Given the description of an element on the screen output the (x, y) to click on. 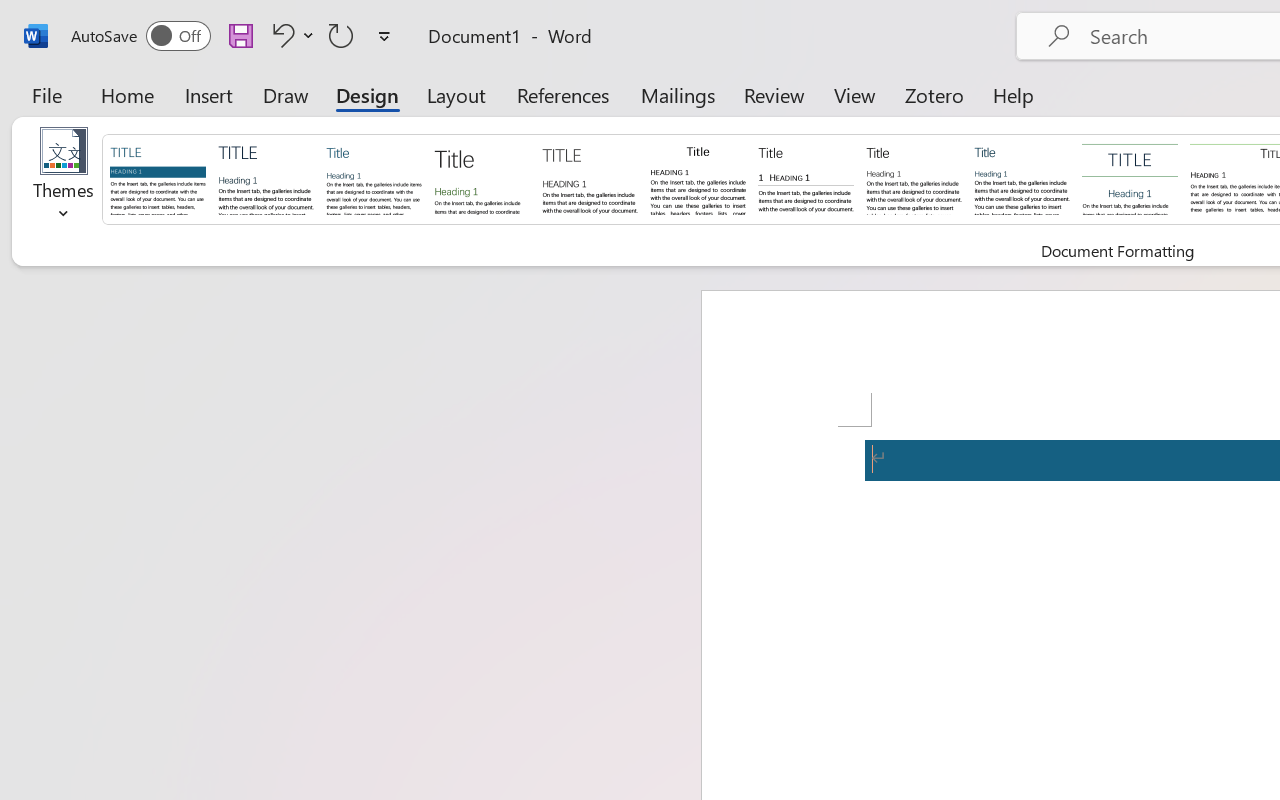
Centered (1130, 178)
Basic (Stylish) (481, 178)
Basic (Elegant) (266, 178)
Black & White (Word 2013) (913, 178)
Black & White (Classic) (697, 178)
Basic (Simple) (373, 178)
